Given the description of an element on the screen output the (x, y) to click on. 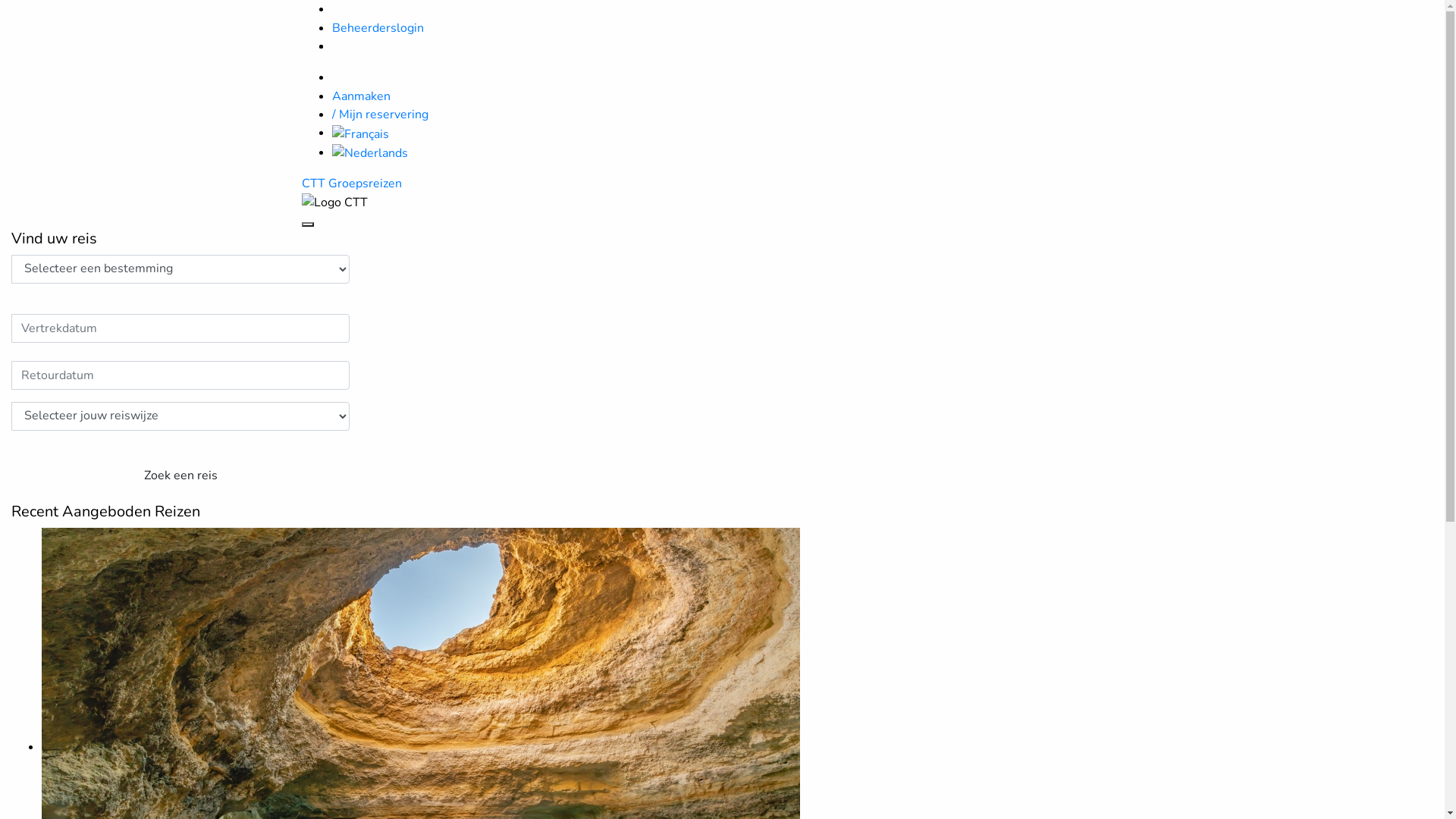
Zoek een reis Element type: text (180, 475)
Toggle navigation Element type: text (307, 224)
Nederlands Element type: hover (369, 152)
CTT Groepsreizen Element type: text (351, 183)
Aanmaken Element type: text (361, 95)
/ Mijn reservering Element type: text (380, 114)
Beheerderslogin Element type: text (377, 27)
